Given the description of an element on the screen output the (x, y) to click on. 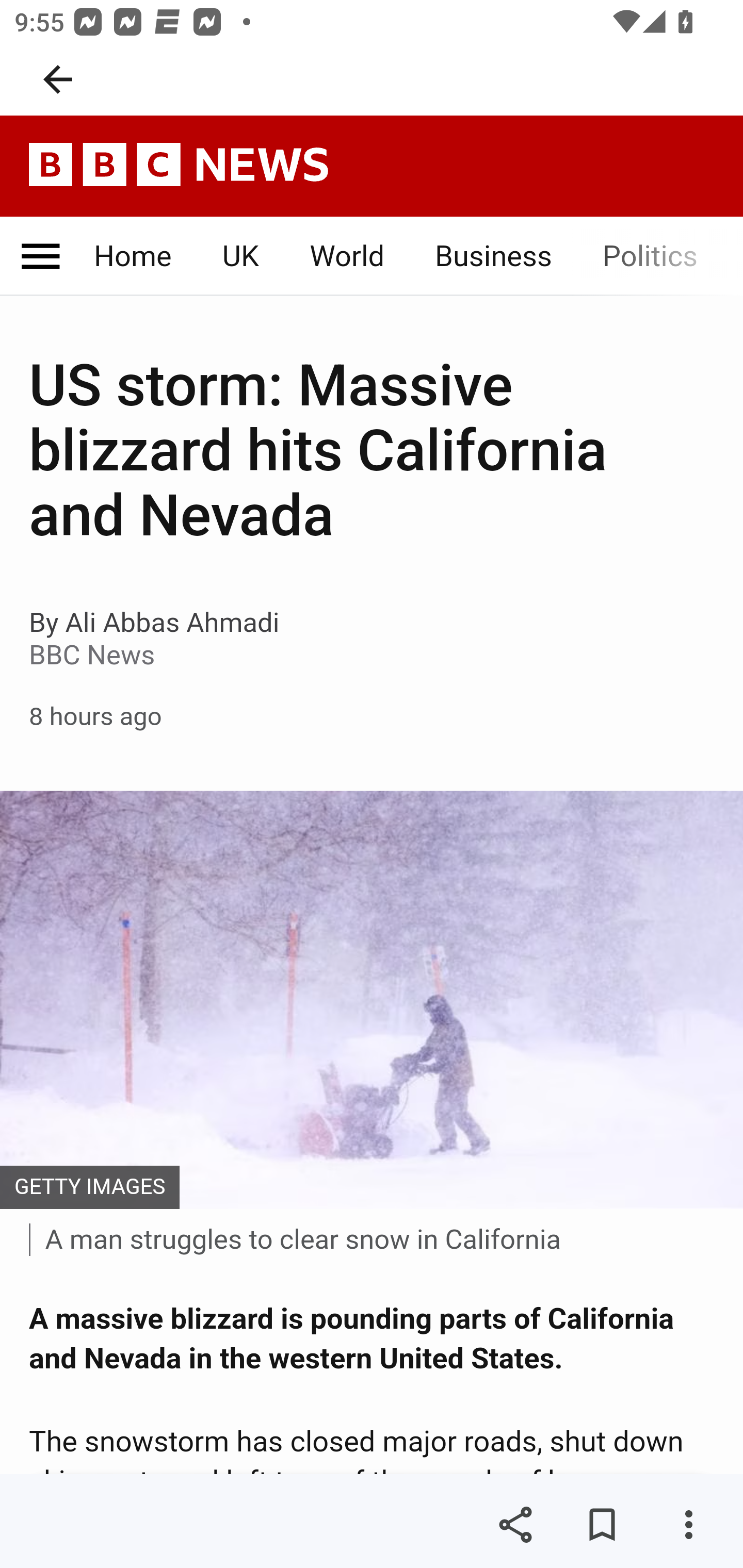
Navigate up (57, 79)
BBC News (178, 165)
Sections (40, 256)
Home (133, 256)
UK (239, 256)
World (347, 256)
Business (492, 256)
Politics (649, 256)
Share (514, 1524)
Save for later (601, 1524)
More options (688, 1524)
